Given the description of an element on the screen output the (x, y) to click on. 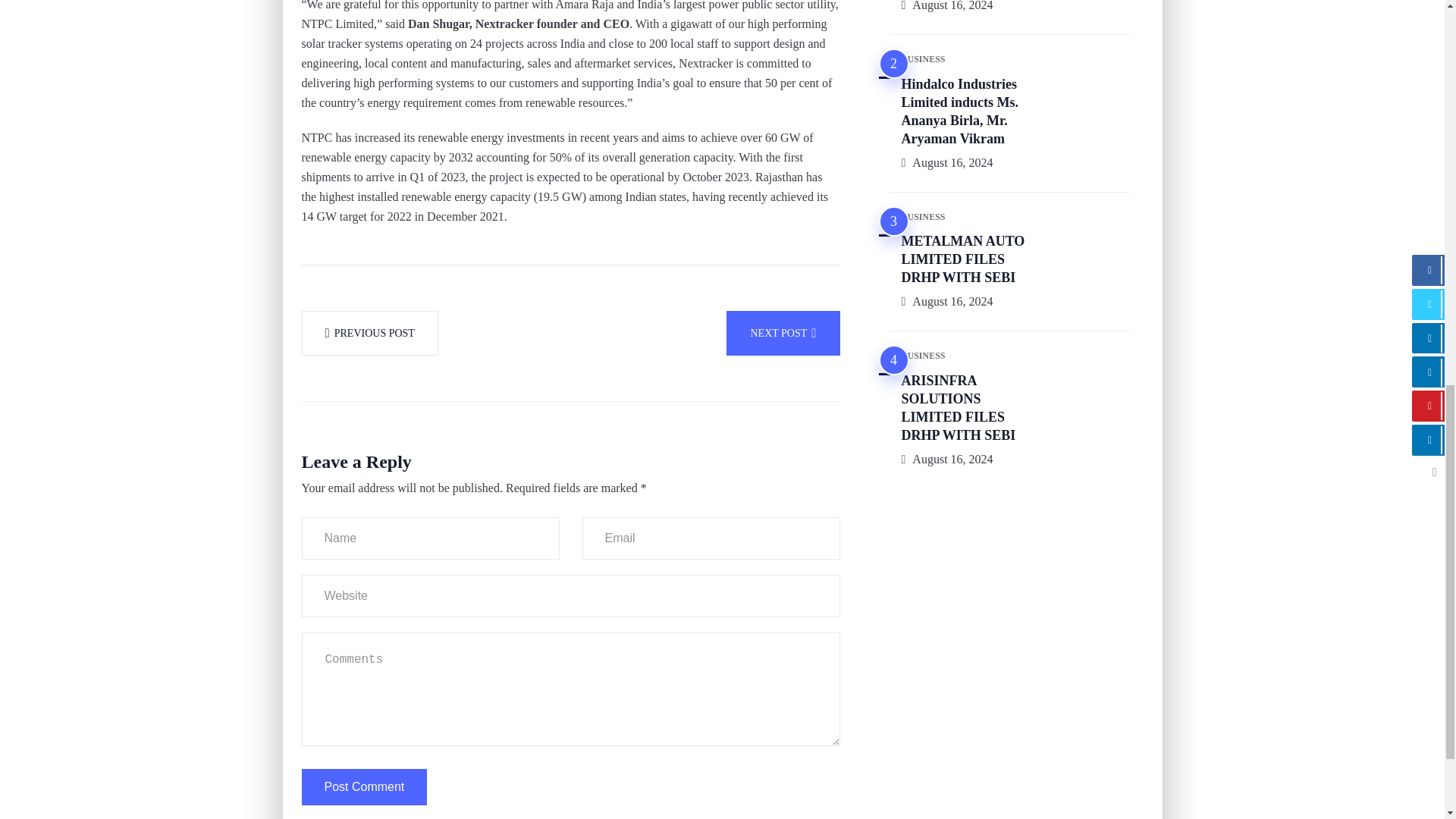
Post Comment (364, 787)
PREVIOUS POST (369, 333)
BUSINESS (922, 217)
BUSINESS (922, 59)
NEXT POST (783, 333)
METALMAN AUTO LIMITED FILES DRHP WITH SEBI (963, 260)
ARISINFRA SOLUTIONS LIMITED FILES DRHP WITH SEBI (957, 409)
BUSINESS (922, 356)
